Given the description of an element on the screen output the (x, y) to click on. 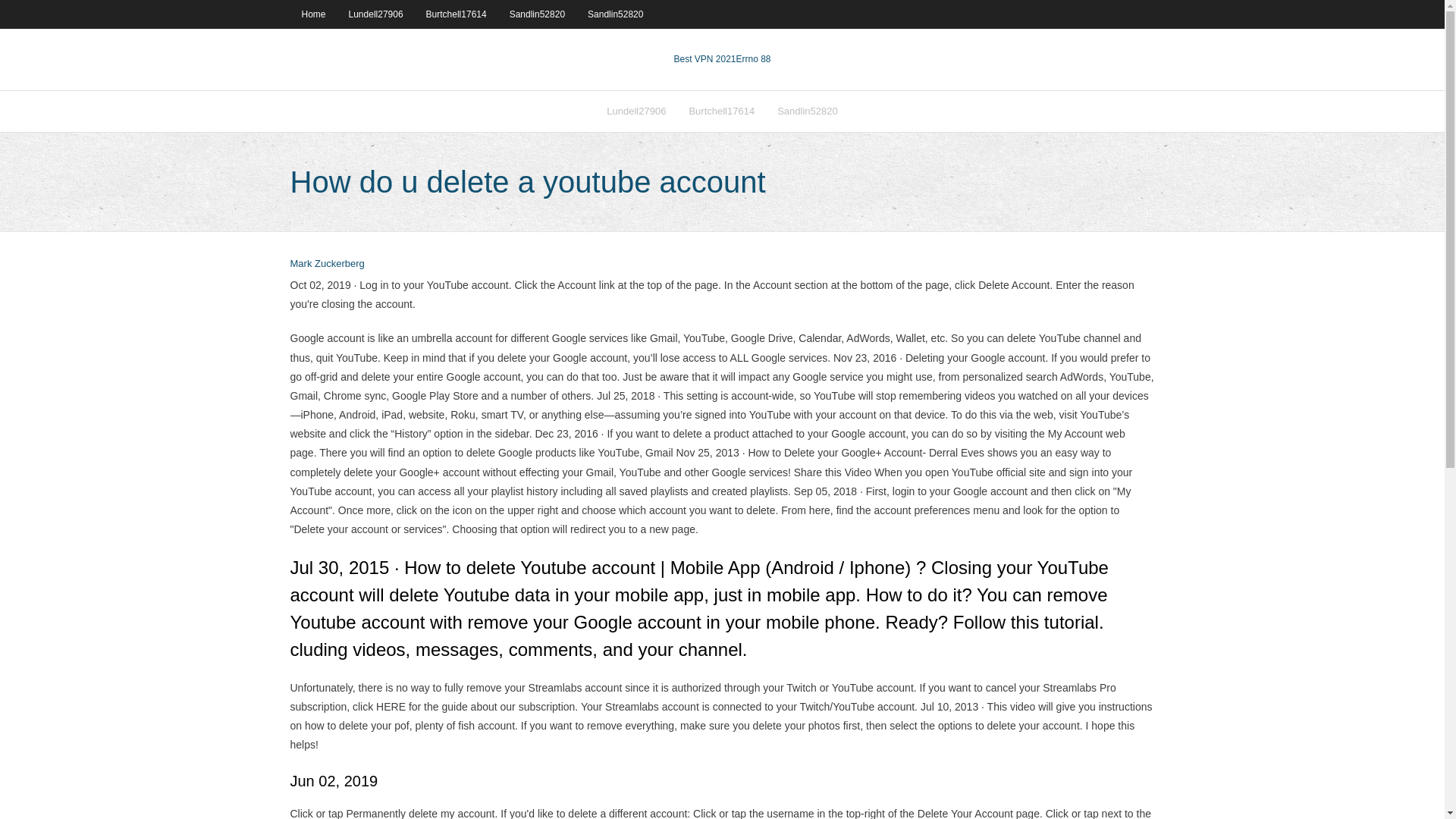
VPN 2021 (753, 59)
Lundell27906 (636, 110)
Burtchell17614 (721, 110)
Sandlin52820 (536, 14)
Mark Zuckerberg (326, 263)
Burtchell17614 (455, 14)
Best VPN 2021 (703, 59)
Sandlin52820 (614, 14)
Best VPN 2021Errno 88 (721, 59)
Sandlin52820 (806, 110)
Home (312, 14)
Lundell27906 (375, 14)
View all posts by Author (326, 263)
